Given the description of an element on the screen output the (x, y) to click on. 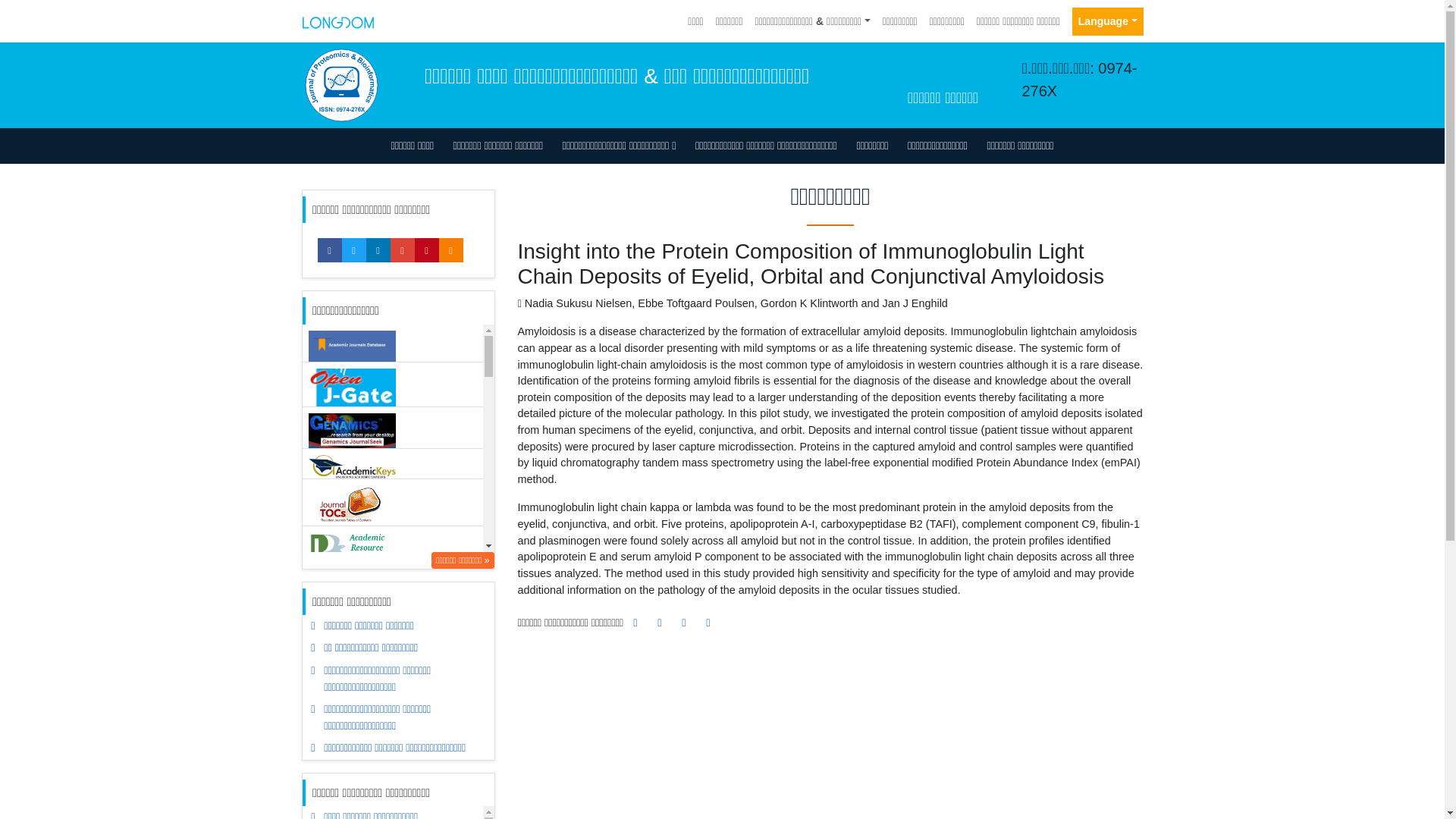
Language (1106, 21)
